Given the description of an element on the screen output the (x, y) to click on. 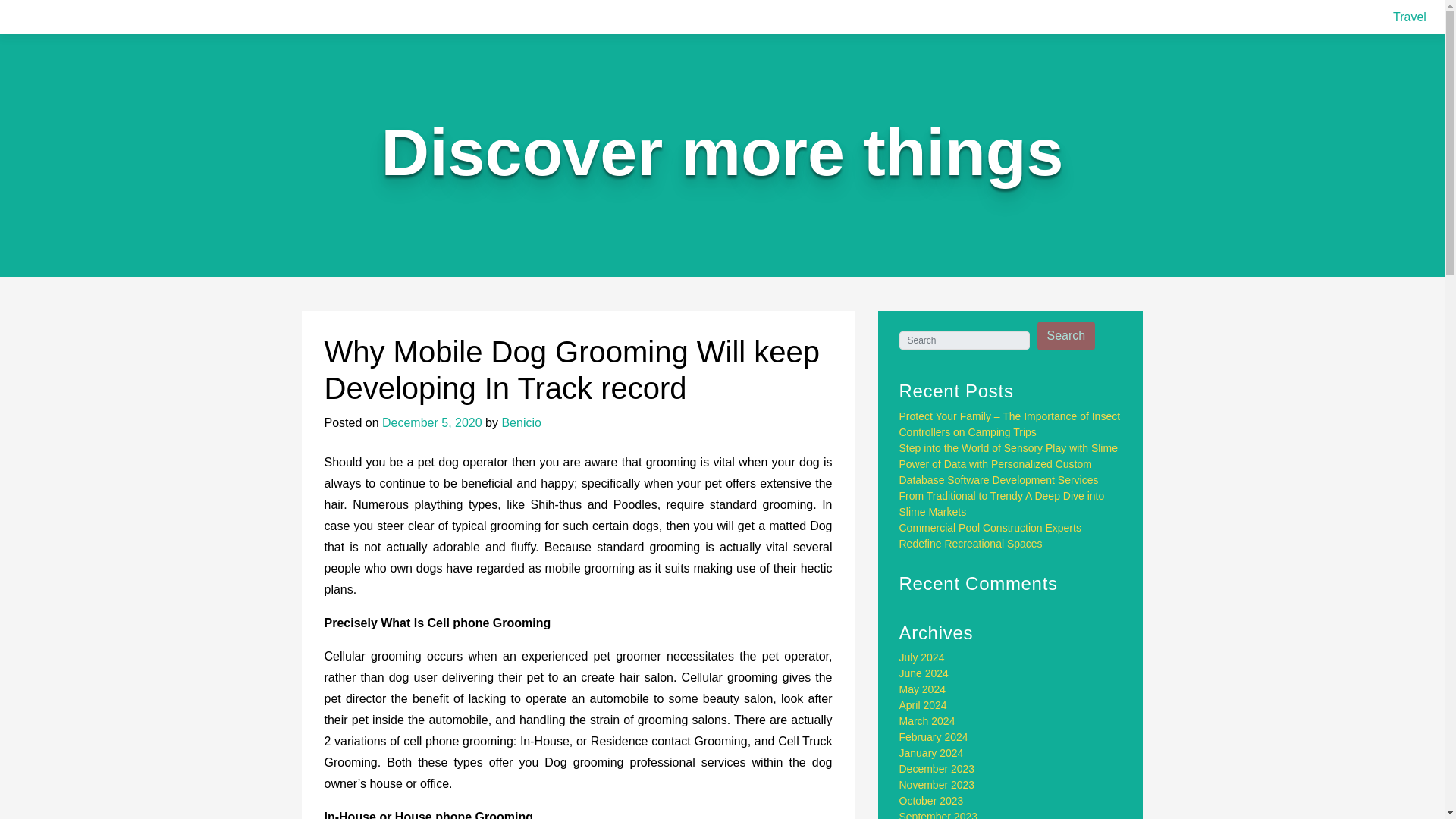
Step into the World of Sensory Play with Slime (1008, 448)
February 2024 (933, 736)
July 2024 (921, 657)
From Traditional to Trendy A Deep Dive into Slime Markets (1002, 503)
June 2024 (924, 673)
Benicio (520, 422)
April 2024 (923, 705)
December 5, 2020 (431, 422)
